Given the description of an element on the screen output the (x, y) to click on. 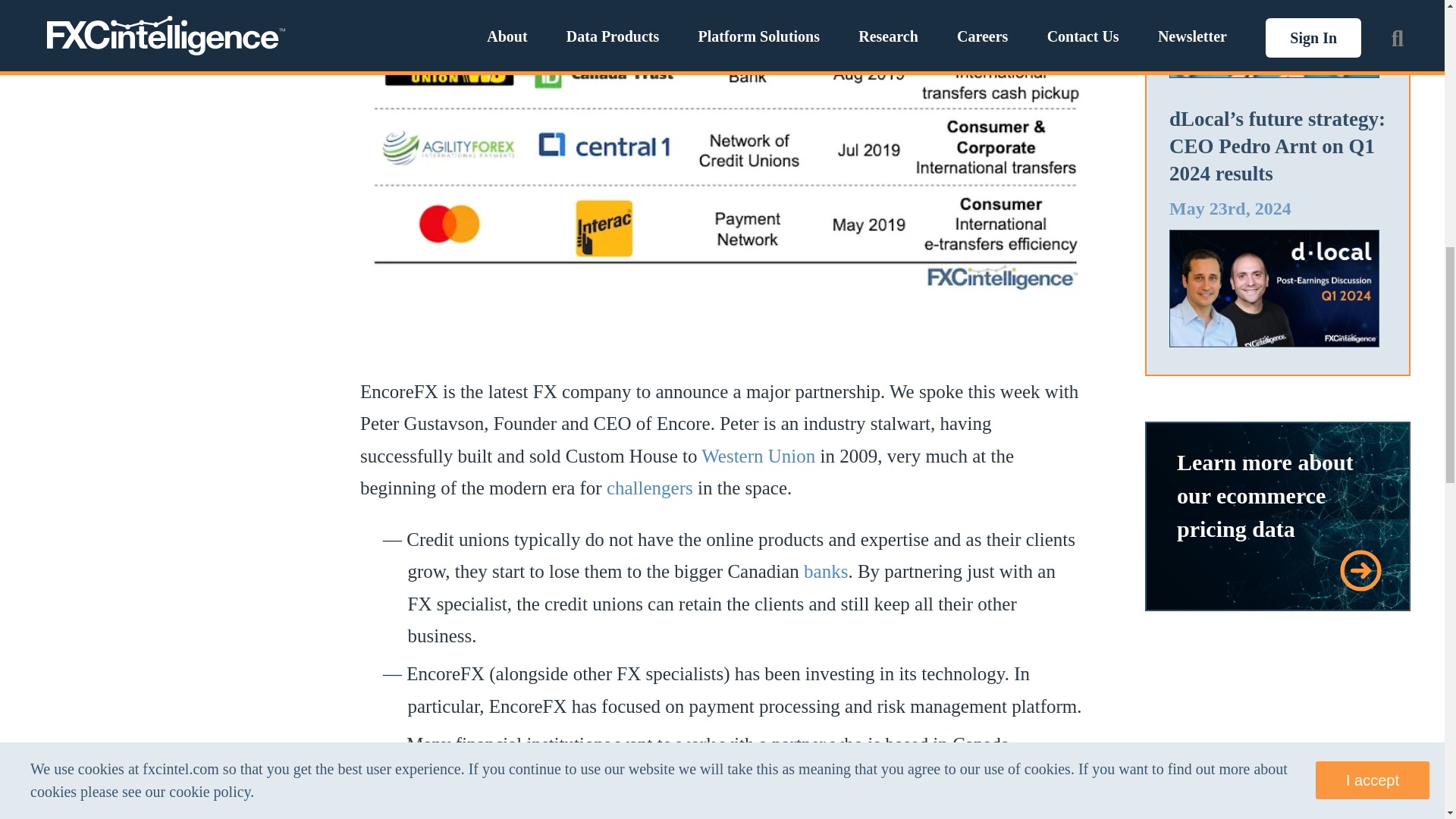
Western Union (758, 455)
Learn more about our ecommerce pricing data (1265, 495)
challengers (650, 487)
banks (825, 571)
